Given the description of an element on the screen output the (x, y) to click on. 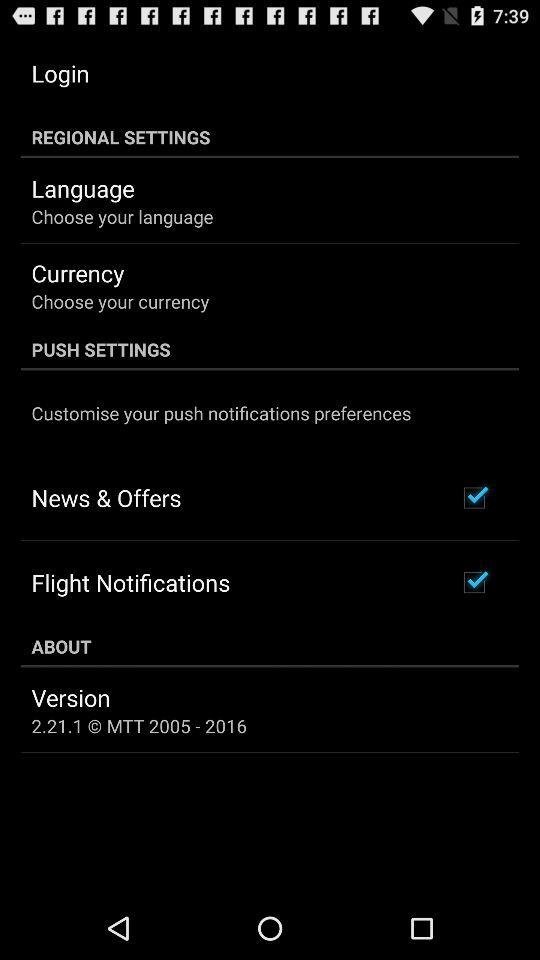
click customise your push (221, 412)
